Given the description of an element on the screen output the (x, y) to click on. 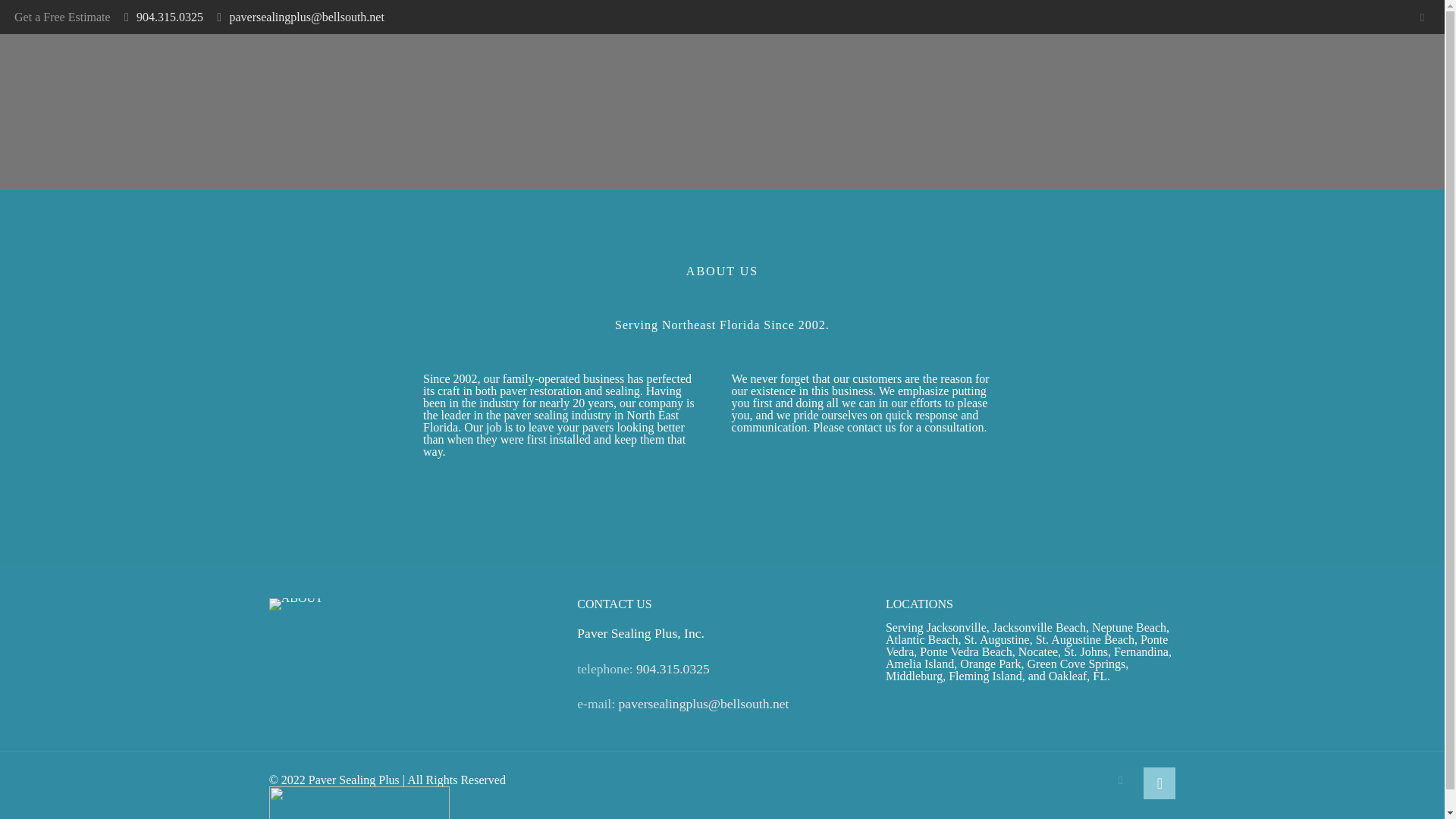
904.315.0325 (169, 16)
Facebook (1120, 779)
904.315.0325 (673, 668)
Facebook (1421, 17)
